Given the description of an element on the screen output the (x, y) to click on. 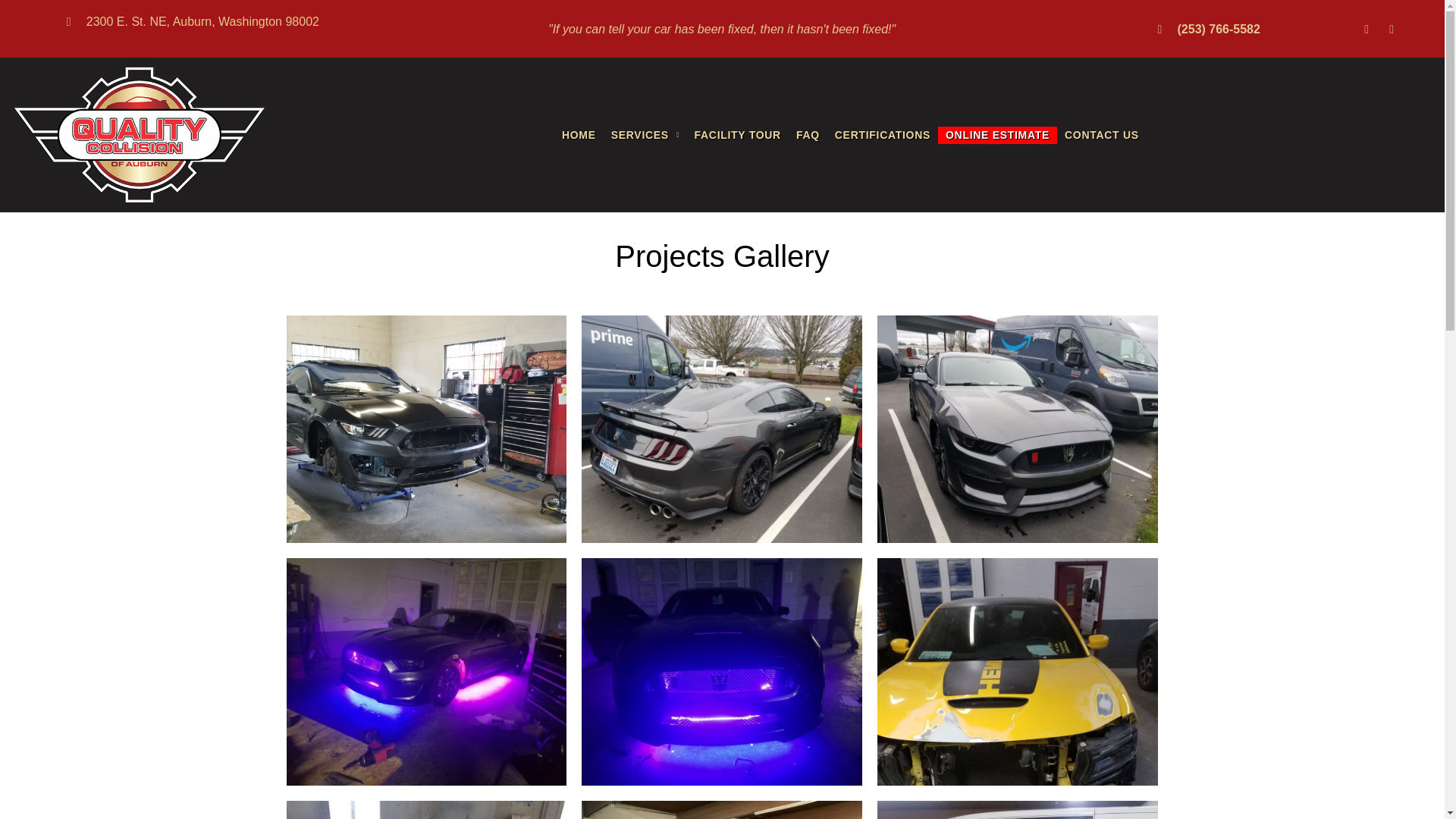
HOME (579, 135)
CERTIFICATIONS (882, 135)
ONLINE ESTIMATE (997, 135)
FAQ (808, 135)
FACILITY TOUR (738, 135)
CONTACT US (1102, 135)
SERVICES (645, 135)
